Given the description of an element on the screen output the (x, y) to click on. 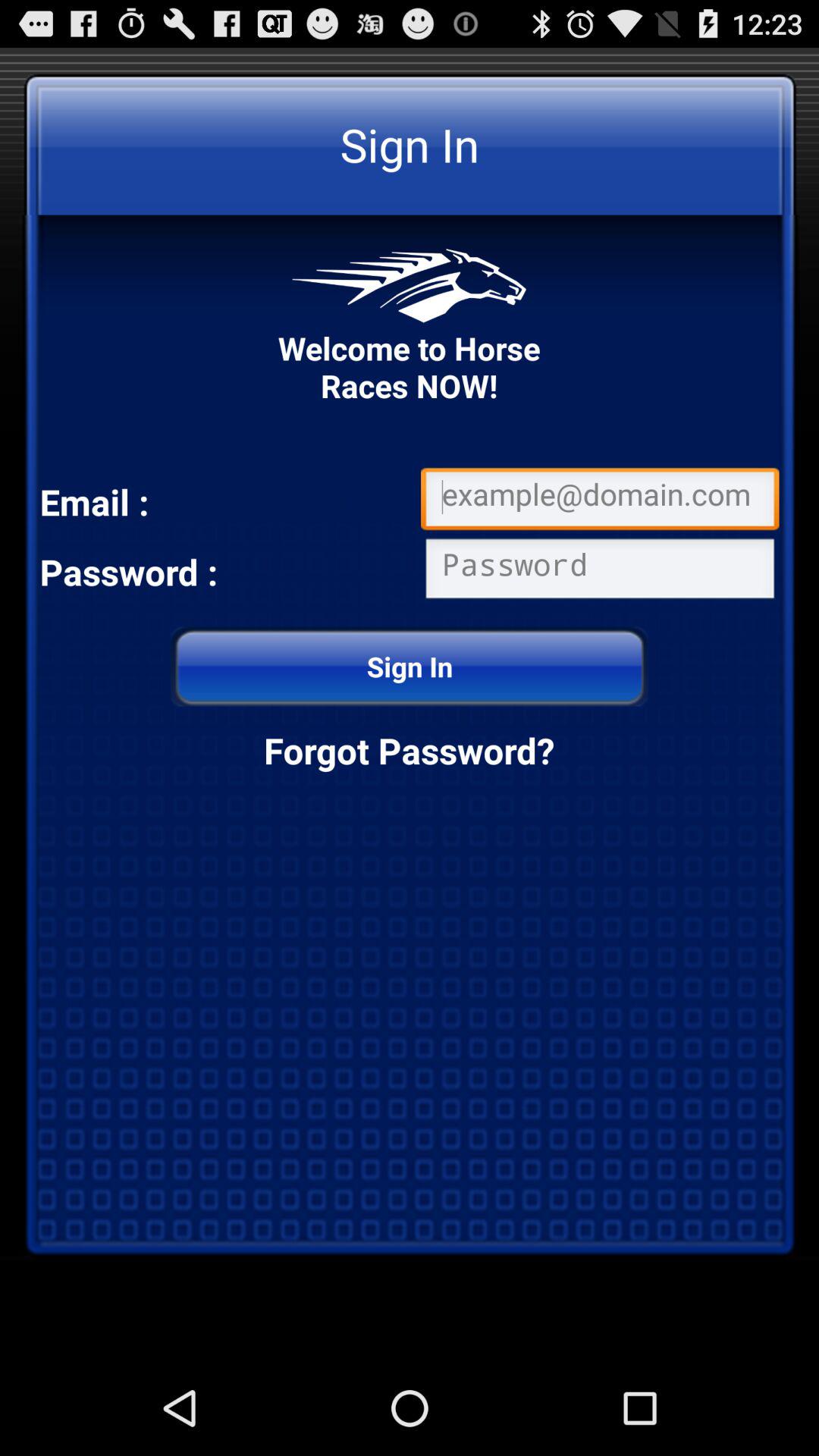
enter email (599, 501)
